Given the description of an element on the screen output the (x, y) to click on. 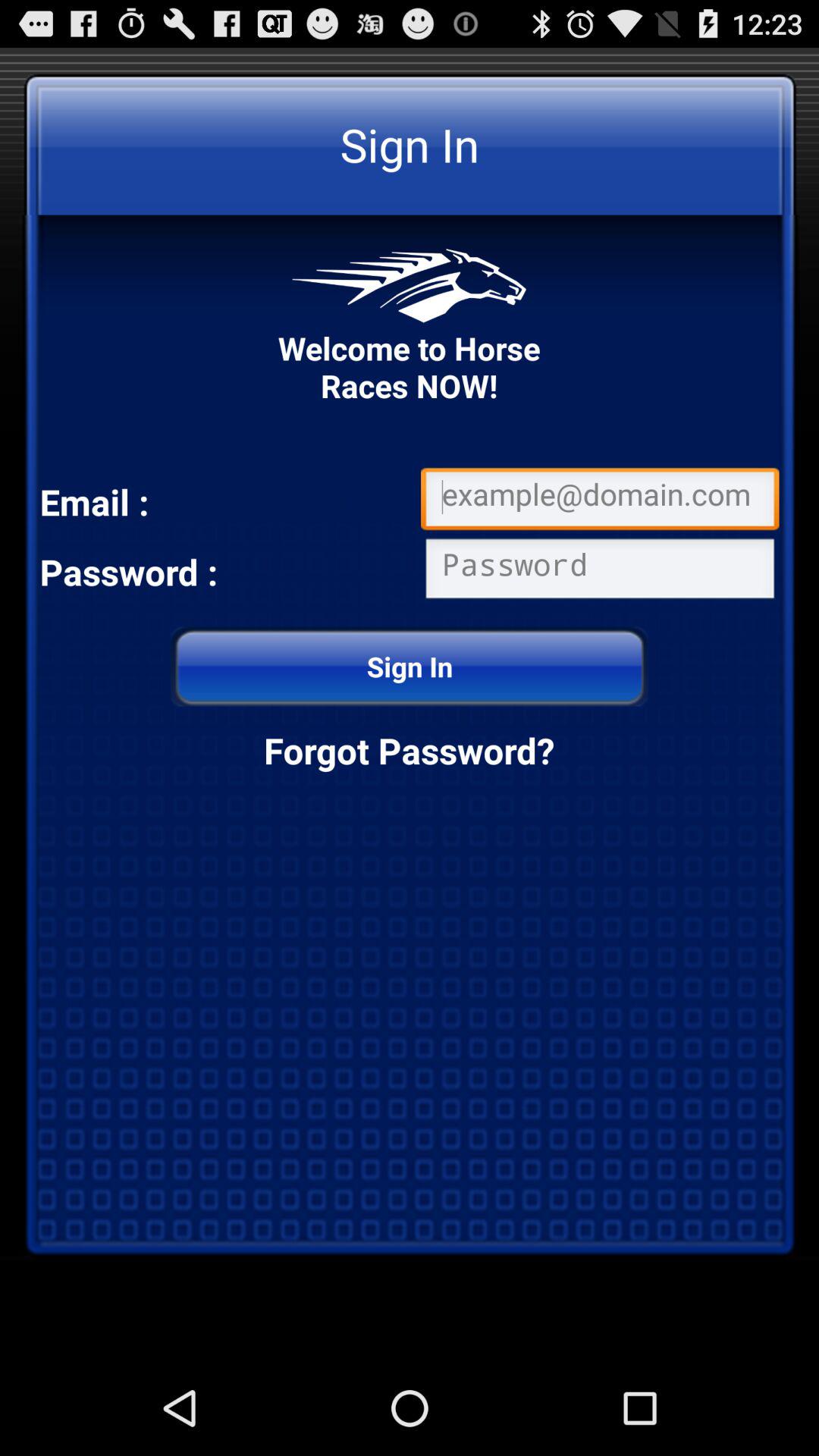
enter email (599, 501)
